Given the description of an element on the screen output the (x, y) to click on. 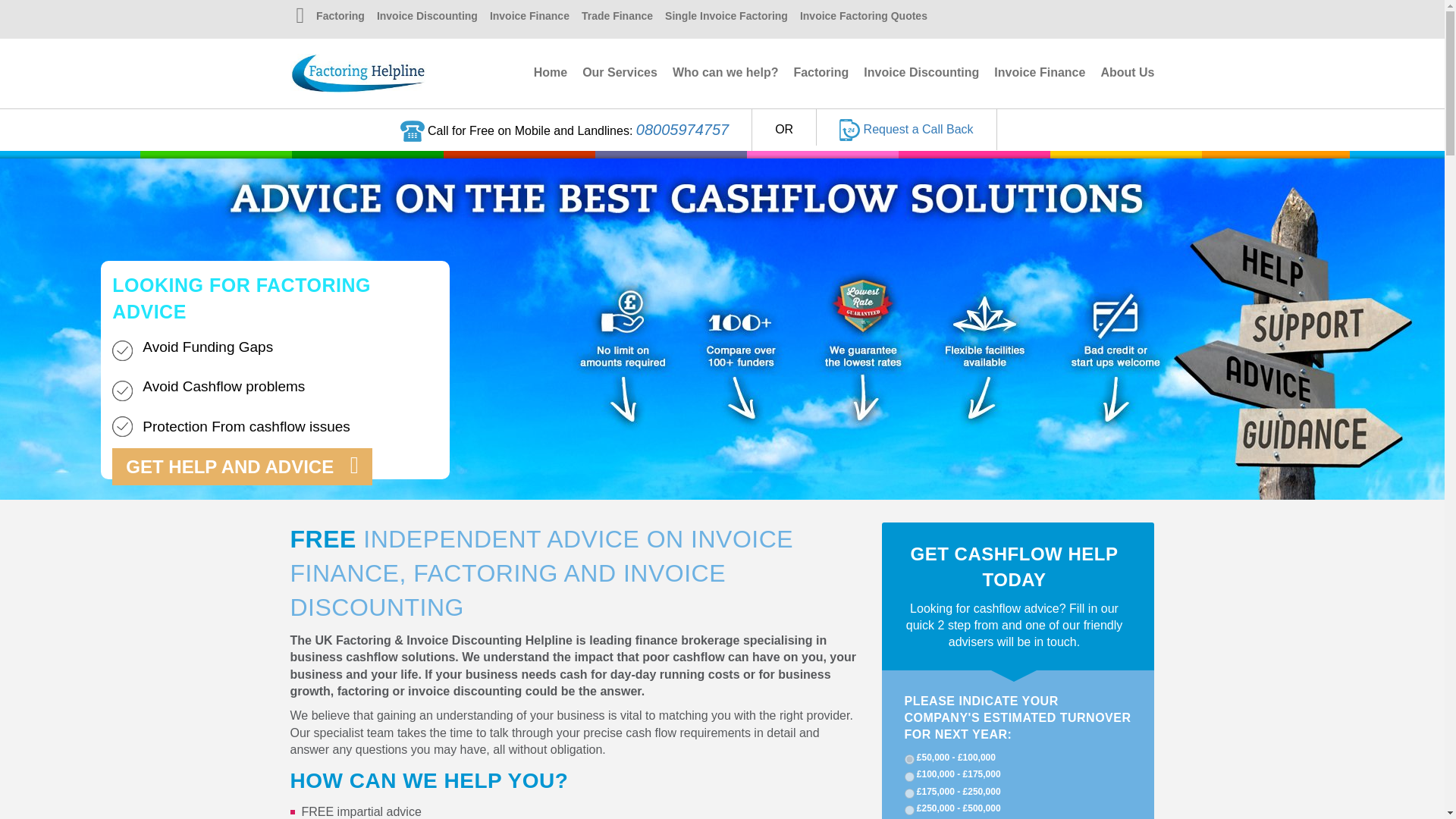
Invoice Finance (529, 16)
Who can we help? (725, 72)
Invoice Discounting (920, 72)
3 (909, 793)
Factoring (340, 16)
1 (909, 759)
2 (909, 777)
4 (909, 809)
Single Invoice Factoring (726, 16)
Invoice Factoring Quotes (863, 16)
